Given the description of an element on the screen output the (x, y) to click on. 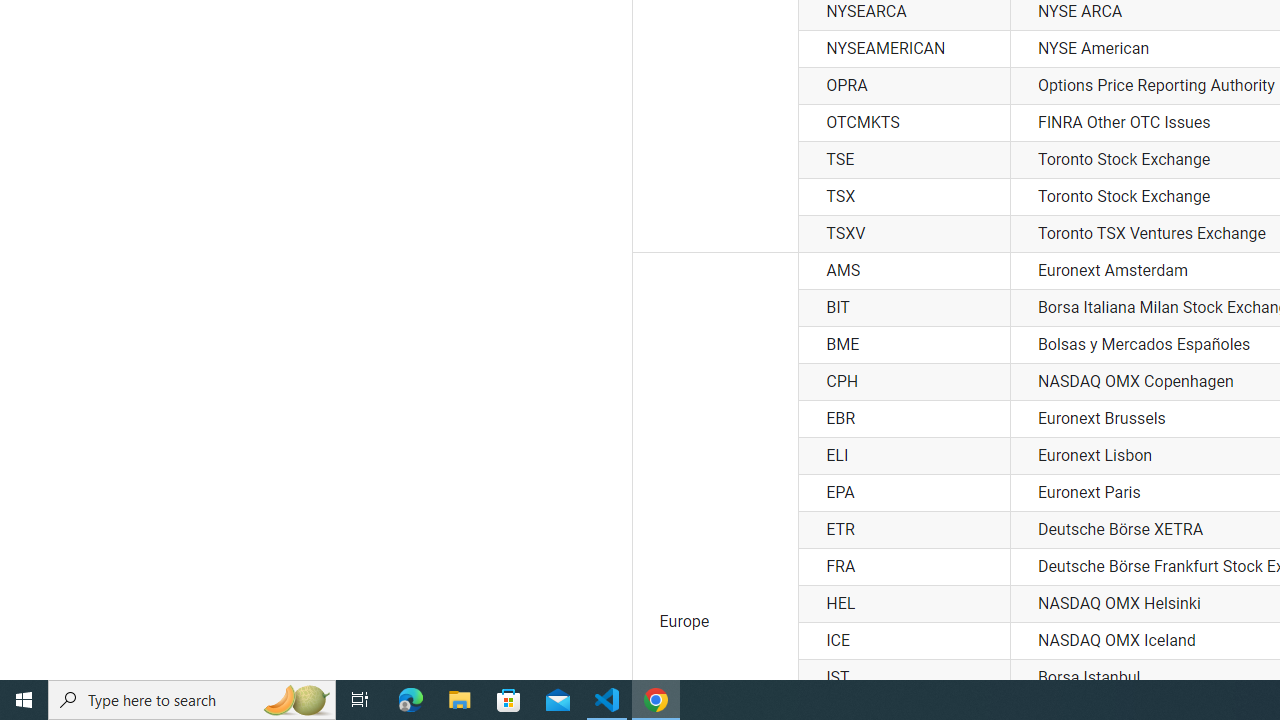
CPH (904, 381)
FRA (904, 566)
AMS (904, 270)
OTCMKTS (904, 122)
ETR (904, 529)
IST (904, 677)
OPRA (904, 85)
EBR (904, 418)
TSE (904, 160)
BIT (904, 307)
TSX (904, 196)
BME (904, 345)
NYSEAMERICAN (904, 48)
HEL (904, 603)
ELI (904, 456)
